Given the description of an element on the screen output the (x, y) to click on. 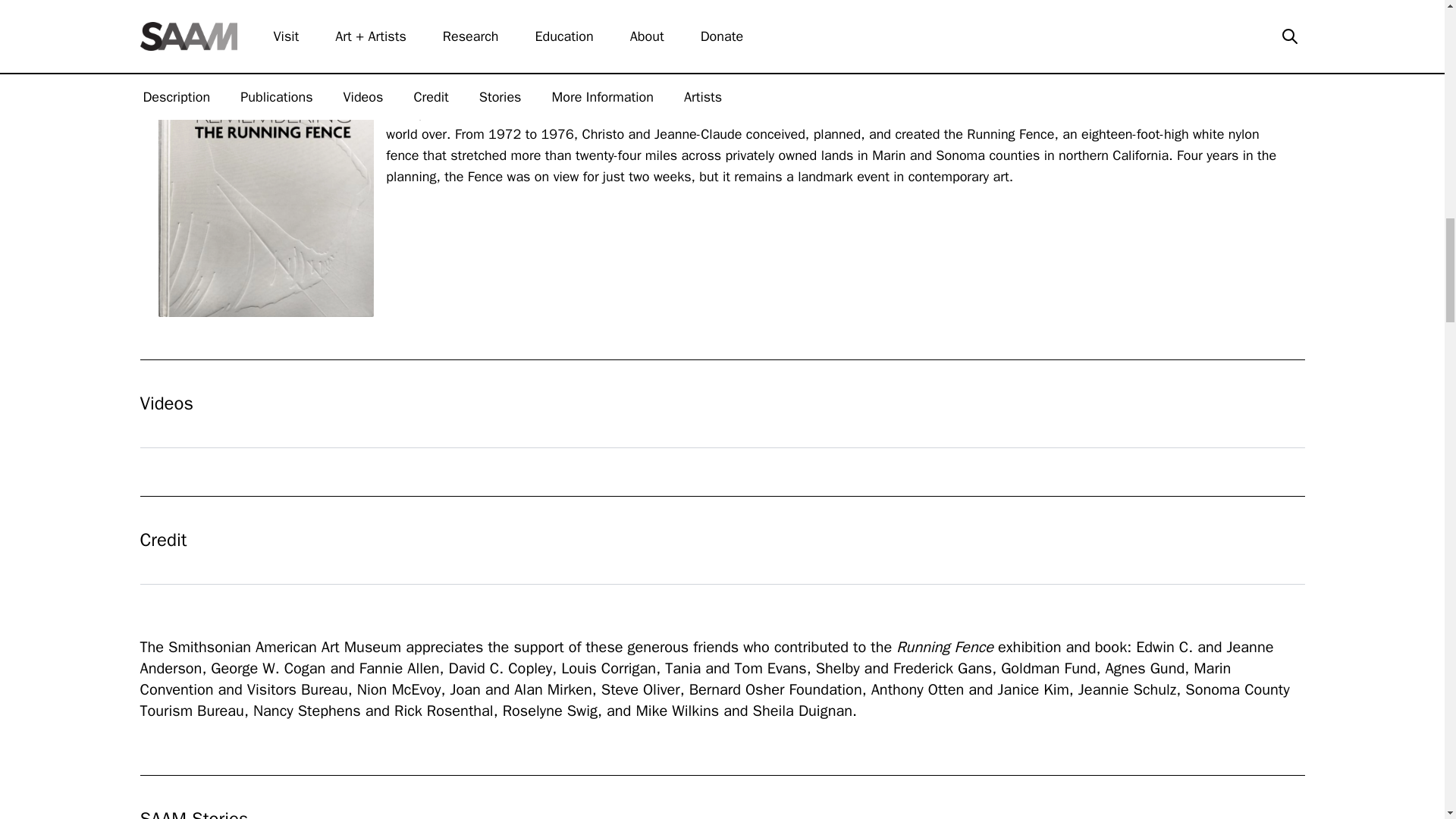
SAAM Stories (721, 812)
Videos (721, 403)
Videos (721, 402)
Credit (721, 539)
